Given the description of an element on the screen output the (x, y) to click on. 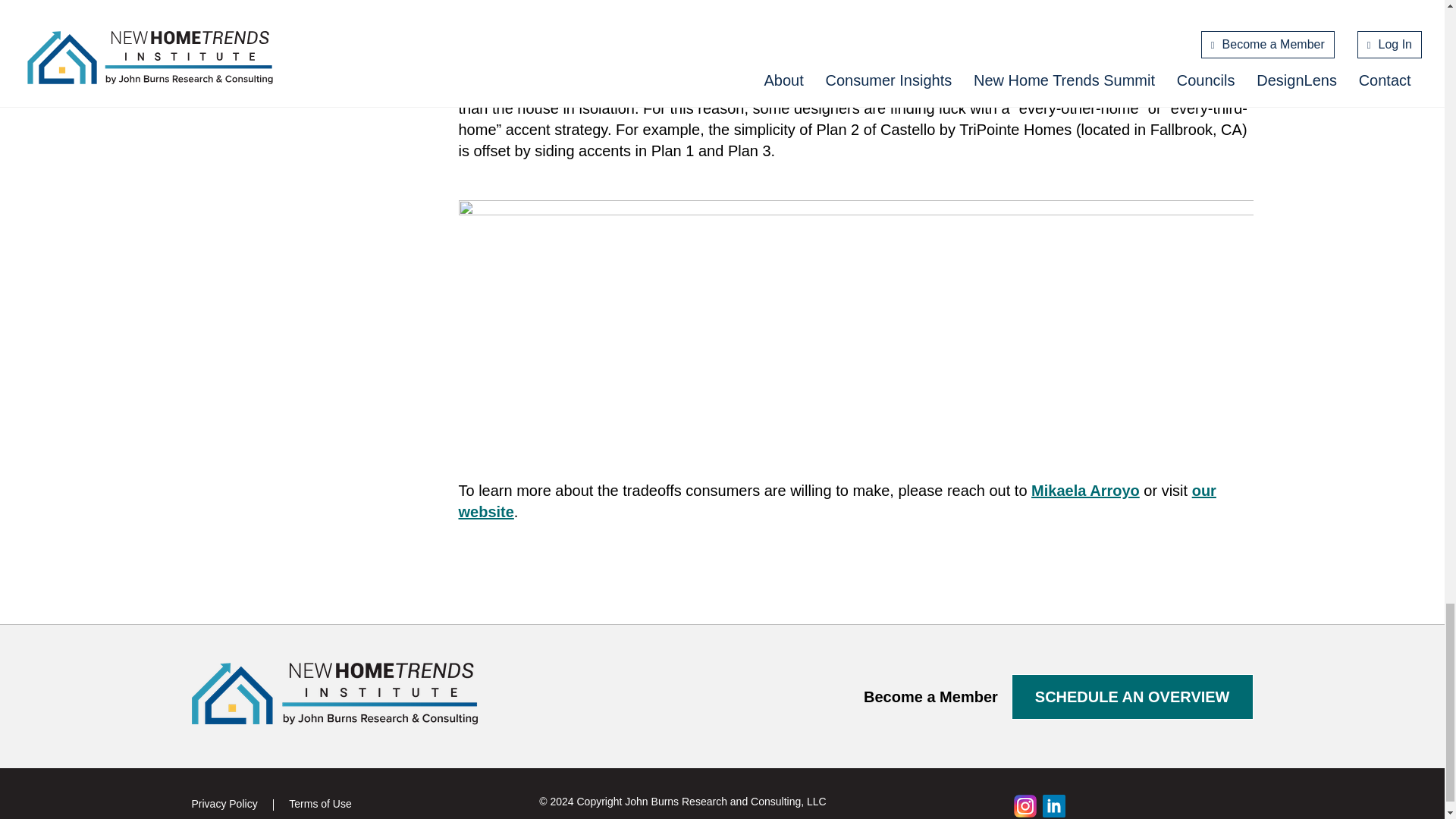
Terms of Use (319, 803)
SCHEDULE AN OVERVIEW (1132, 696)
our website (836, 501)
Privacy Policy (223, 803)
Mikaela Arroyo (1085, 490)
